Given the description of an element on the screen output the (x, y) to click on. 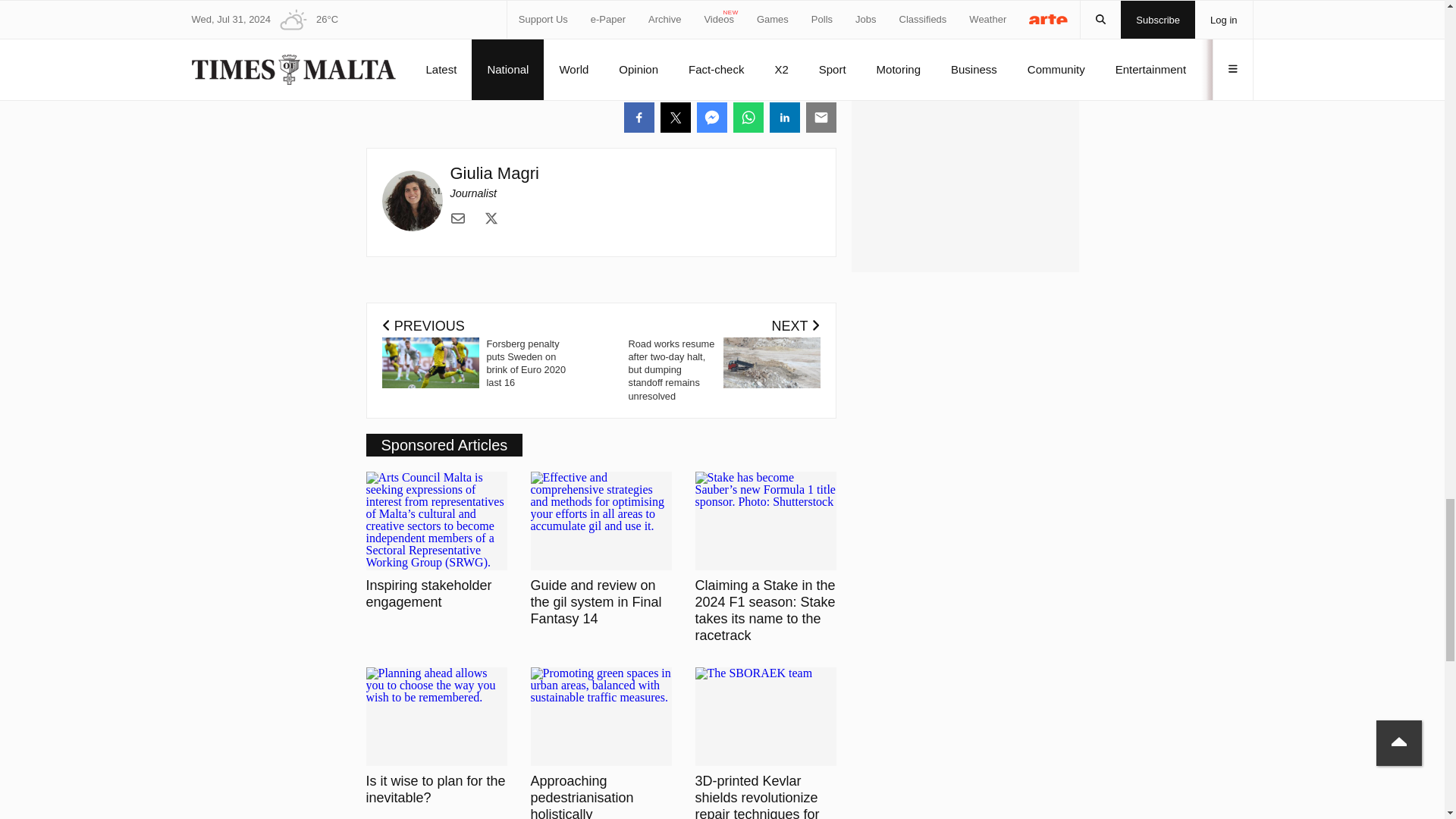
Support Us (743, 56)
Giulia Magri (493, 172)
